Given the description of an element on the screen output the (x, y) to click on. 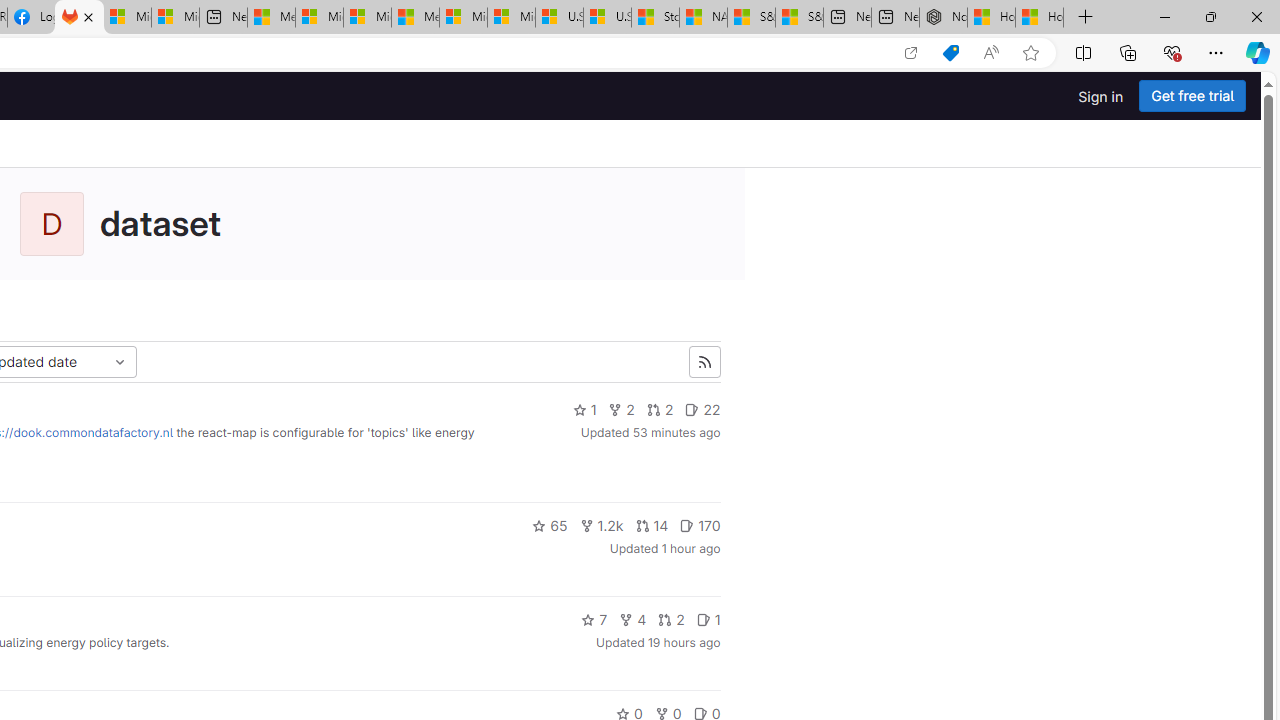
Collections (1128, 52)
Browser essentials (1171, 52)
New tab (895, 17)
Shopping in Microsoft Edge (950, 53)
Subscribe to the new projects feed (704, 362)
Microsoft account | Privacy (319, 17)
Close tab (88, 16)
2 (670, 619)
Microsoft account | Home (367, 17)
New Tab (1085, 17)
Copilot (Ctrl+Shift+.) (1258, 52)
